Given the description of an element on the screen output the (x, y) to click on. 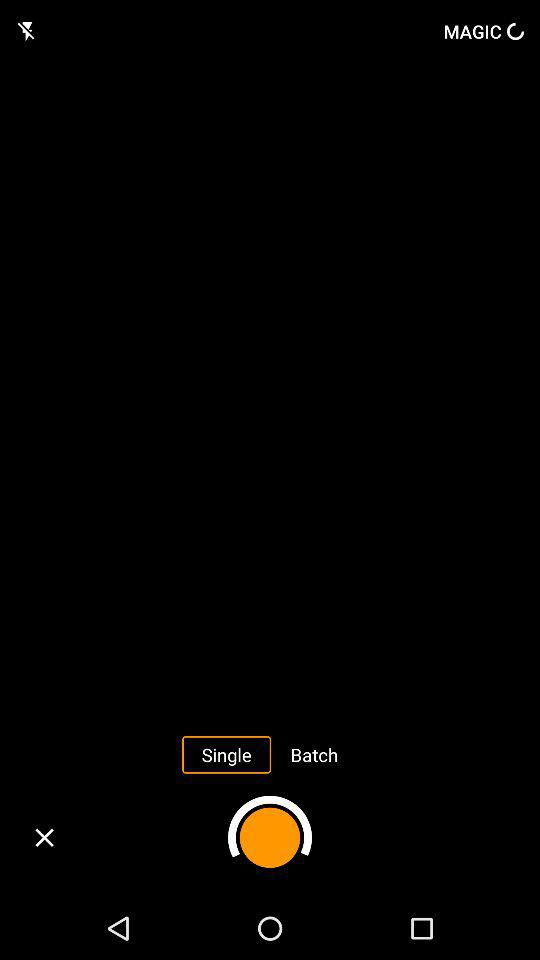
tap item to the left of the batch (226, 754)
